Given the description of an element on the screen output the (x, y) to click on. 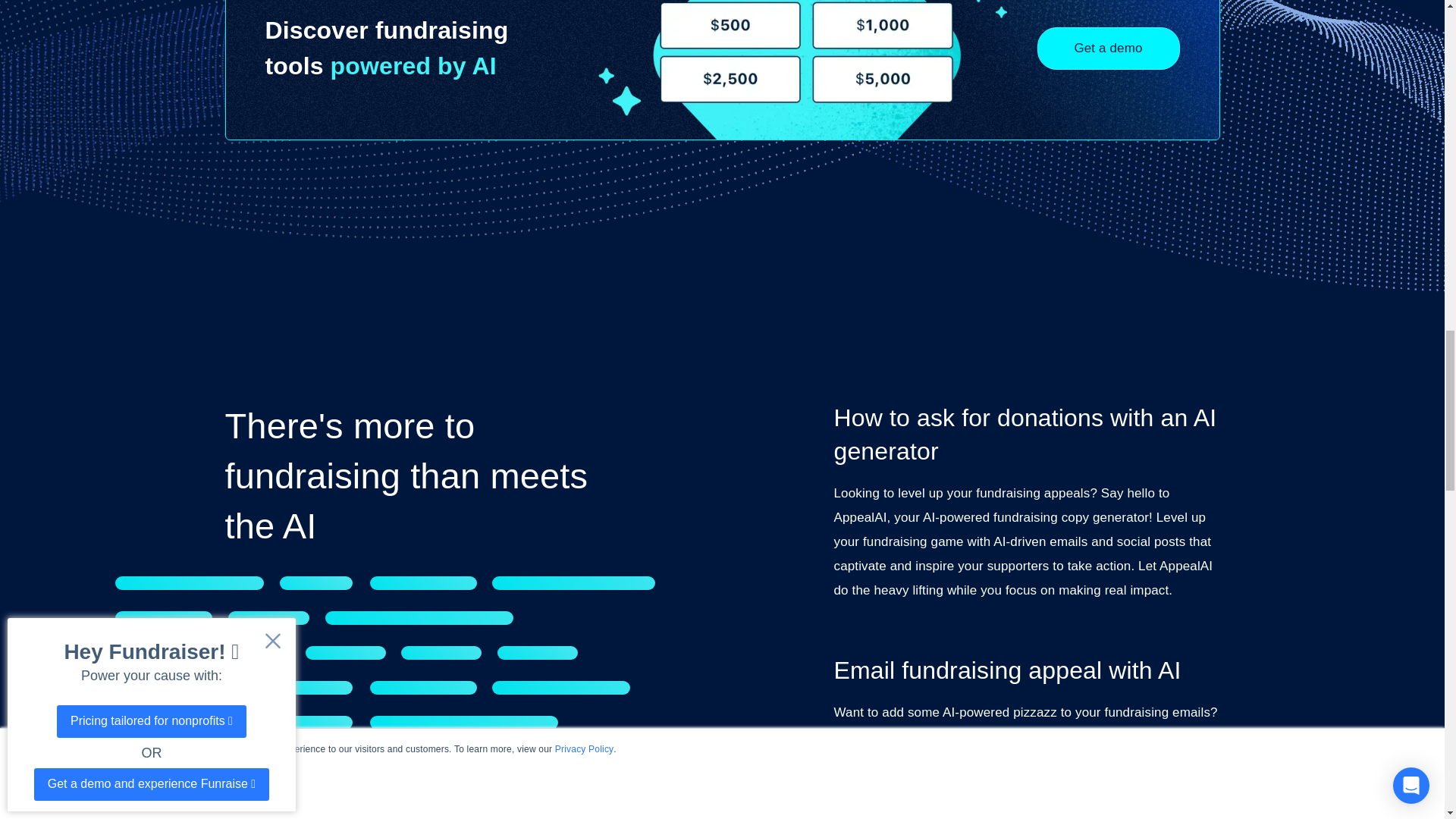
Get a demo (1107, 48)
